Given the description of an element on the screen output the (x, y) to click on. 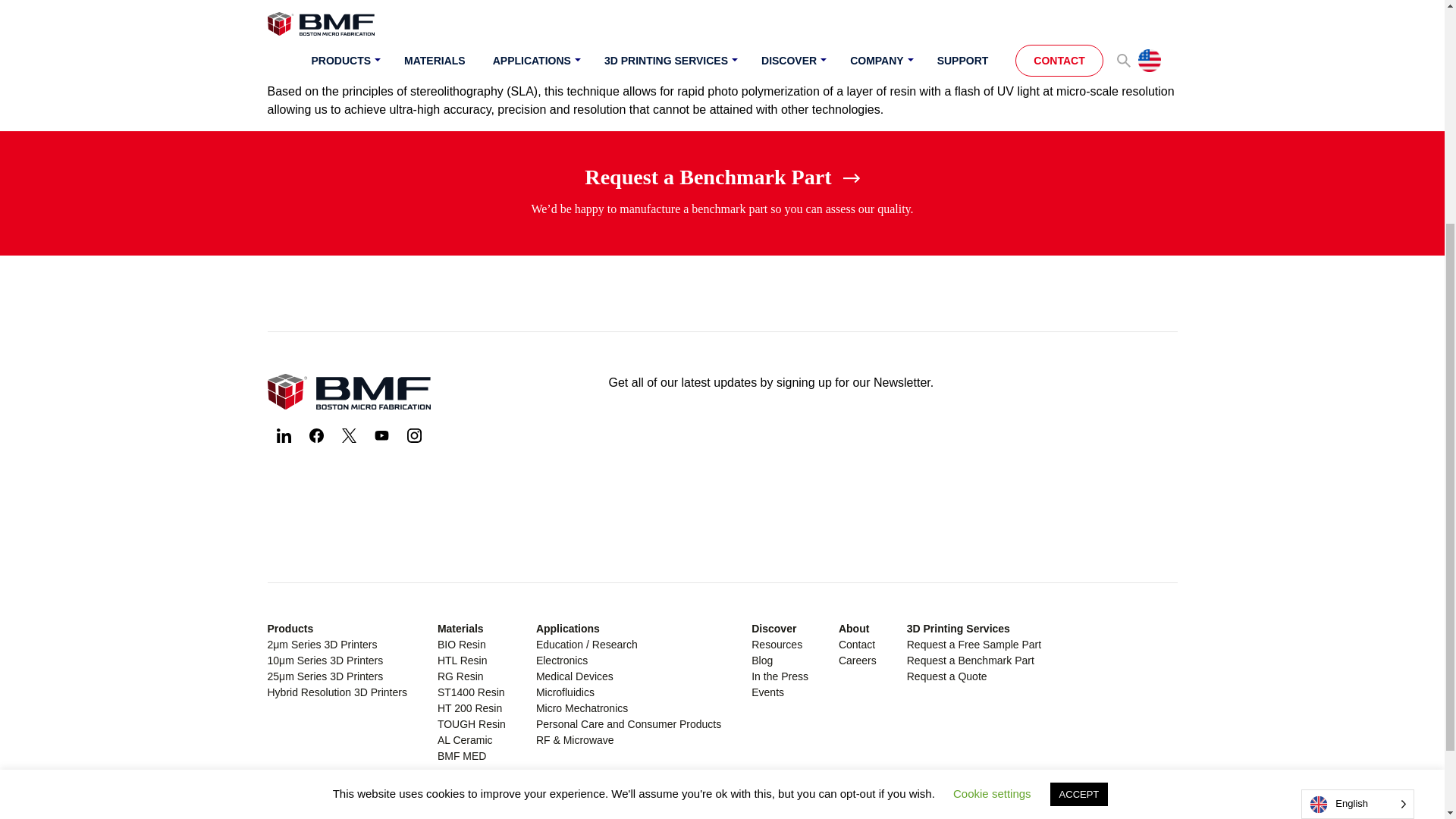
Form 0 (892, 470)
